Given the description of an element on the screen output the (x, y) to click on. 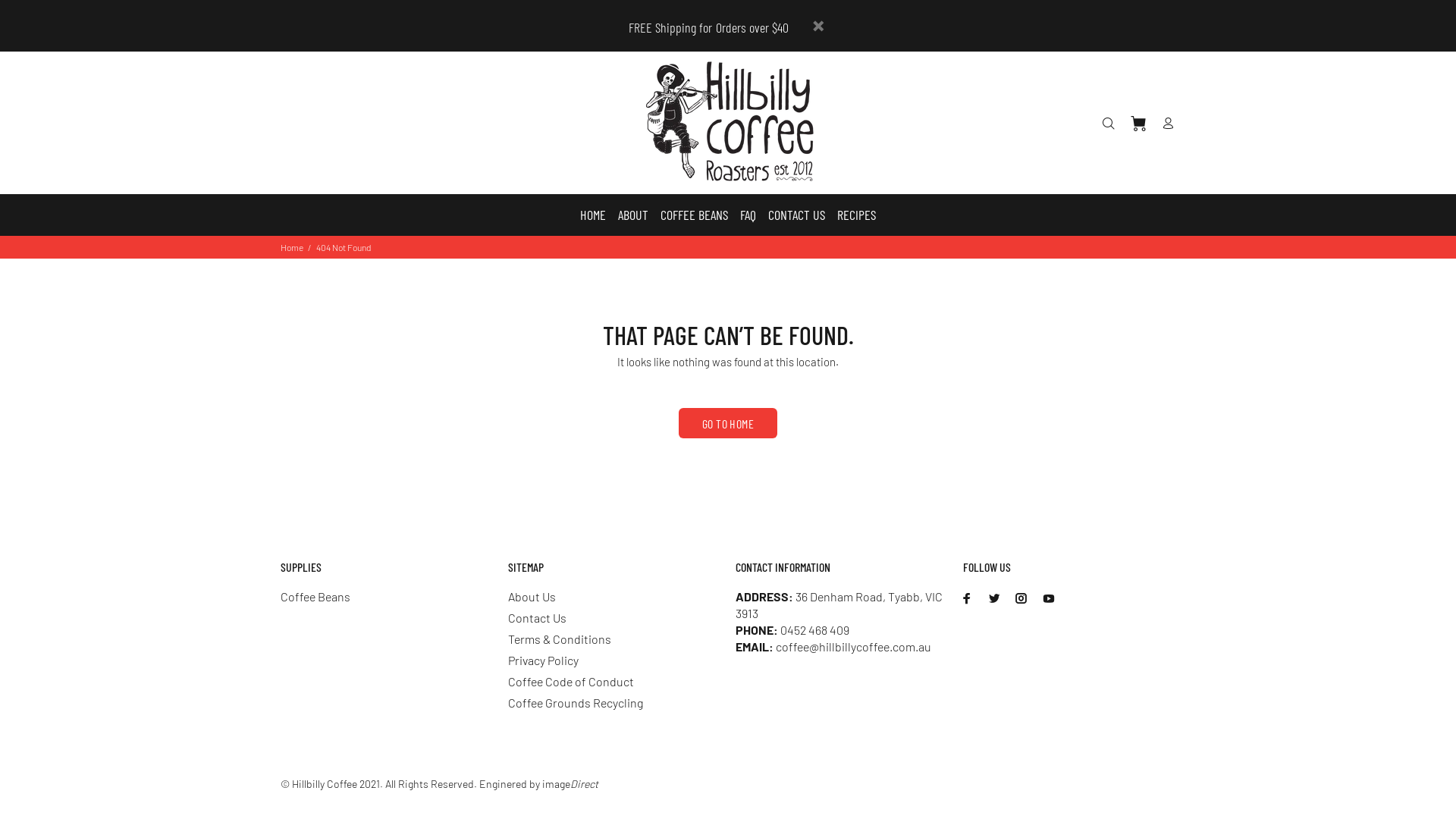
Home Element type: text (291, 246)
Coffee Code of Conduct Element type: text (570, 681)
Coffee Beans Element type: text (315, 596)
imageDirect Element type: text (570, 783)
36 Denham Road, Tyabb, VIC 3913 Element type: text (838, 604)
COFFEE BEANS Element type: text (694, 214)
HOME Element type: text (591, 214)
Contact Us Element type: text (537, 617)
Coffee Grounds Recycling Element type: text (575, 702)
About Us Element type: text (531, 596)
GO TO HOME Element type: text (728, 422)
RECIPES Element type: text (853, 214)
Privacy Policy Element type: text (543, 660)
CONTACT US Element type: text (796, 214)
FAQ Element type: text (748, 214)
coffee@hillbillycoffee.com.au Element type: text (853, 646)
Terms & Conditions Element type: text (559, 638)
0452 468 409 Element type: text (814, 629)
ABOUT Element type: text (632, 214)
